Given the description of an element on the screen output the (x, y) to click on. 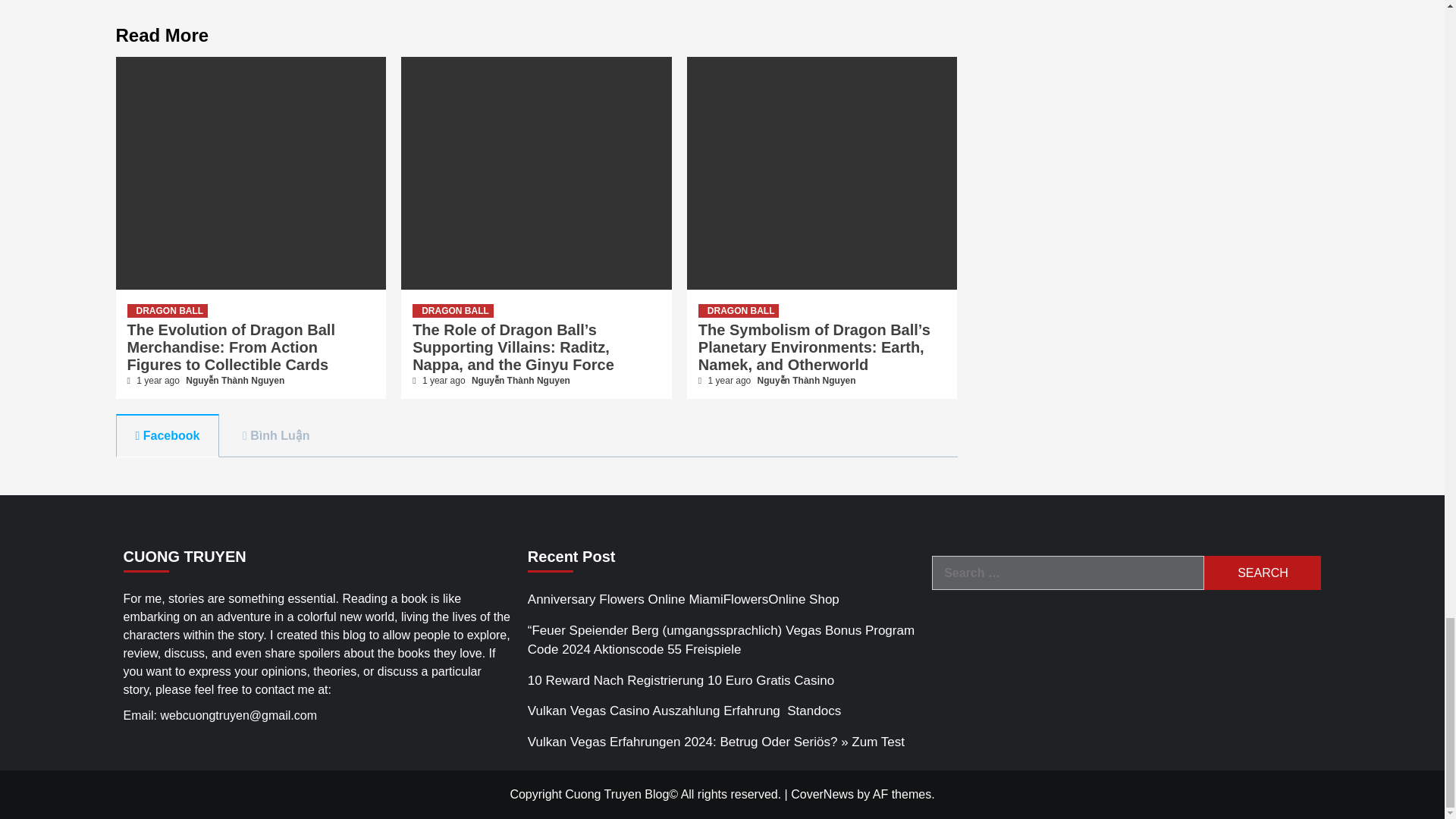
Search (1262, 572)
DRAGON BALL (452, 310)
Search (1262, 572)
DRAGON BALL (168, 310)
